Given the description of an element on the screen output the (x, y) to click on. 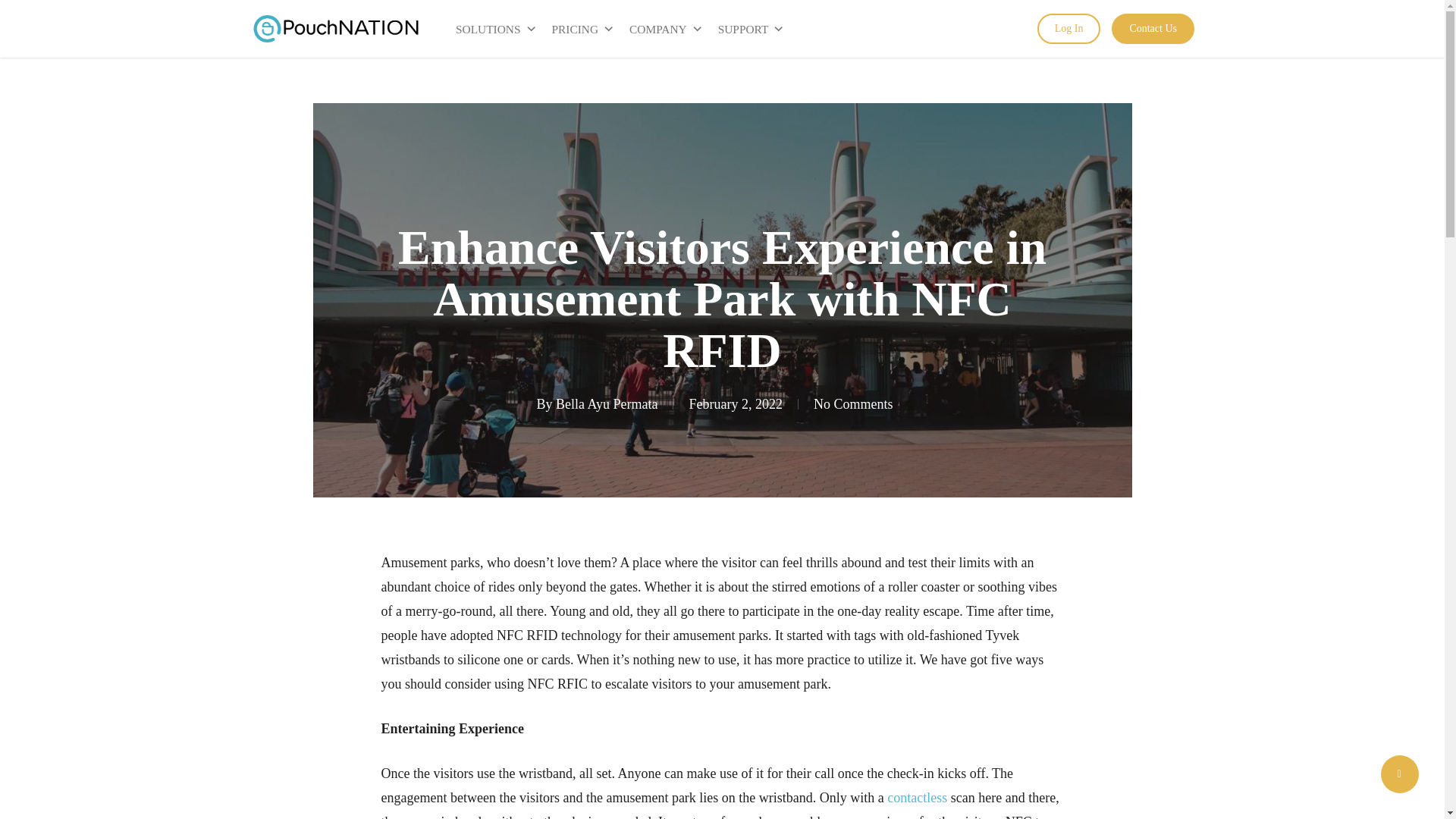
Bella Ayu Permata (607, 403)
contactless (916, 797)
Contact Us (1152, 28)
Posts by Bella Ayu Permata (607, 403)
No Comments (853, 403)
SUPPORT (751, 29)
SOLUTIONS (496, 29)
PRICING (583, 29)
Log In (1068, 28)
COMPANY (665, 29)
